Given the description of an element on the screen output the (x, y) to click on. 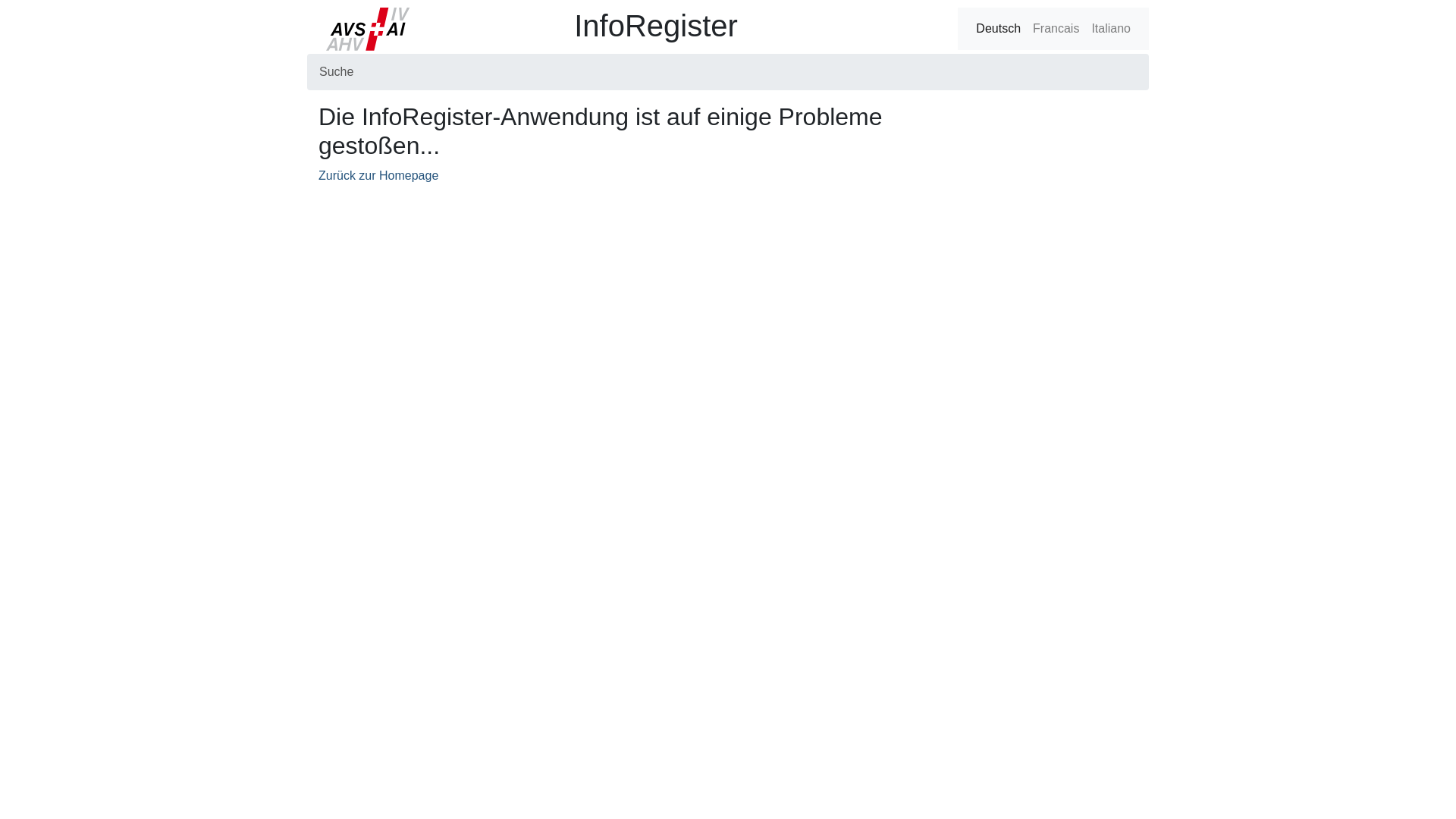
Deutsch Element type: text (997, 28)
Italiano Element type: text (1110, 28)
Francais Element type: text (1055, 28)
